Given the description of an element on the screen output the (x, y) to click on. 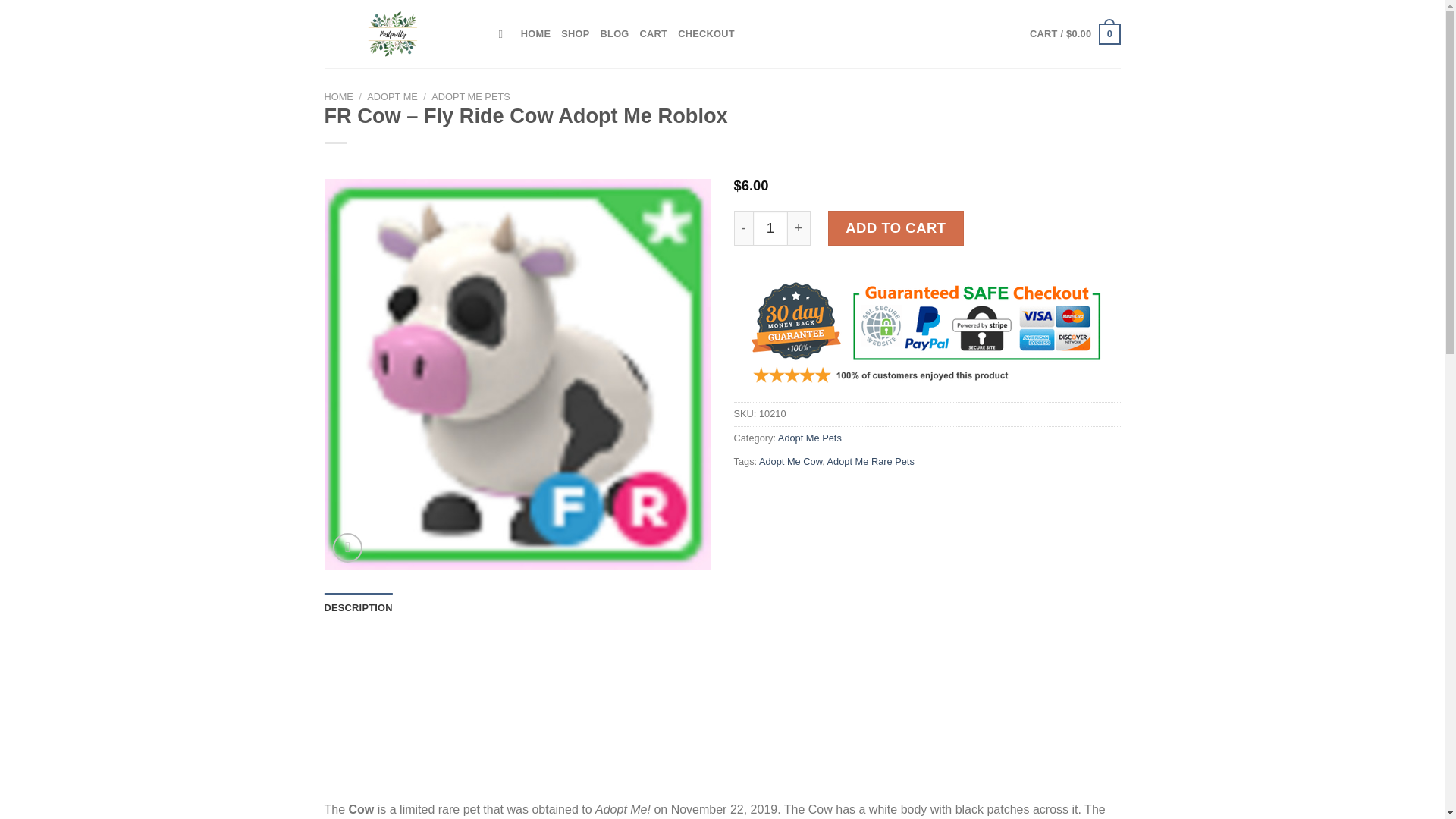
Adopt Me Pets (809, 437)
DESCRIPTION (358, 607)
ADD TO CART (895, 227)
ADOPT ME (391, 96)
Advertisement (722, 717)
SHOP (574, 33)
Adopt Me Cow (790, 460)
1 (769, 227)
Qty (769, 227)
CART (654, 33)
HOME (535, 33)
Adopt Me Rare Pets (870, 460)
HOME (338, 96)
ADOPT ME PETS (470, 96)
